Given the description of an element on the screen output the (x, y) to click on. 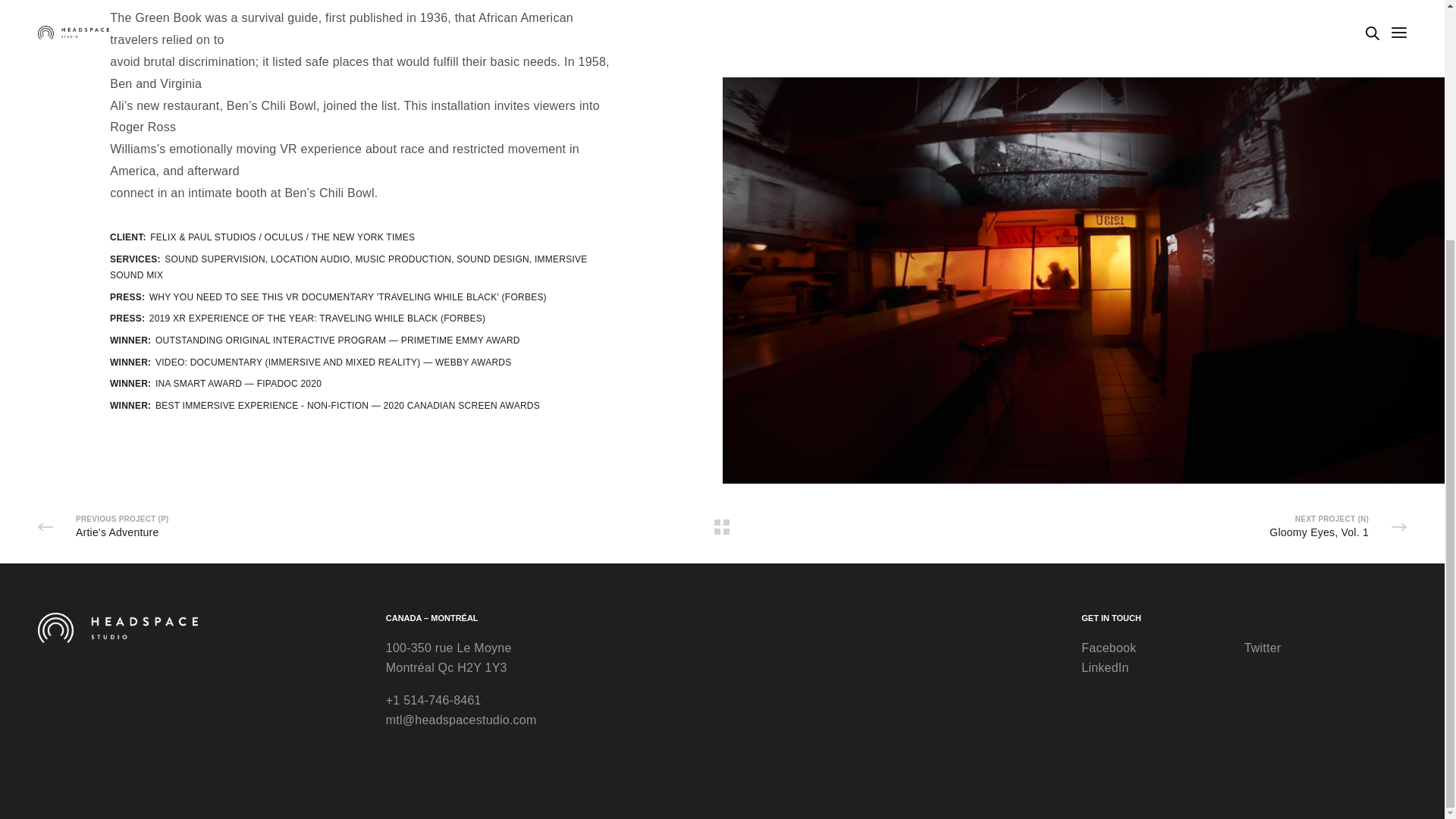
Back (721, 526)
LinkedIn (1162, 337)
Twitter (1325, 317)
Facebook (1162, 317)
